Given the description of an element on the screen output the (x, y) to click on. 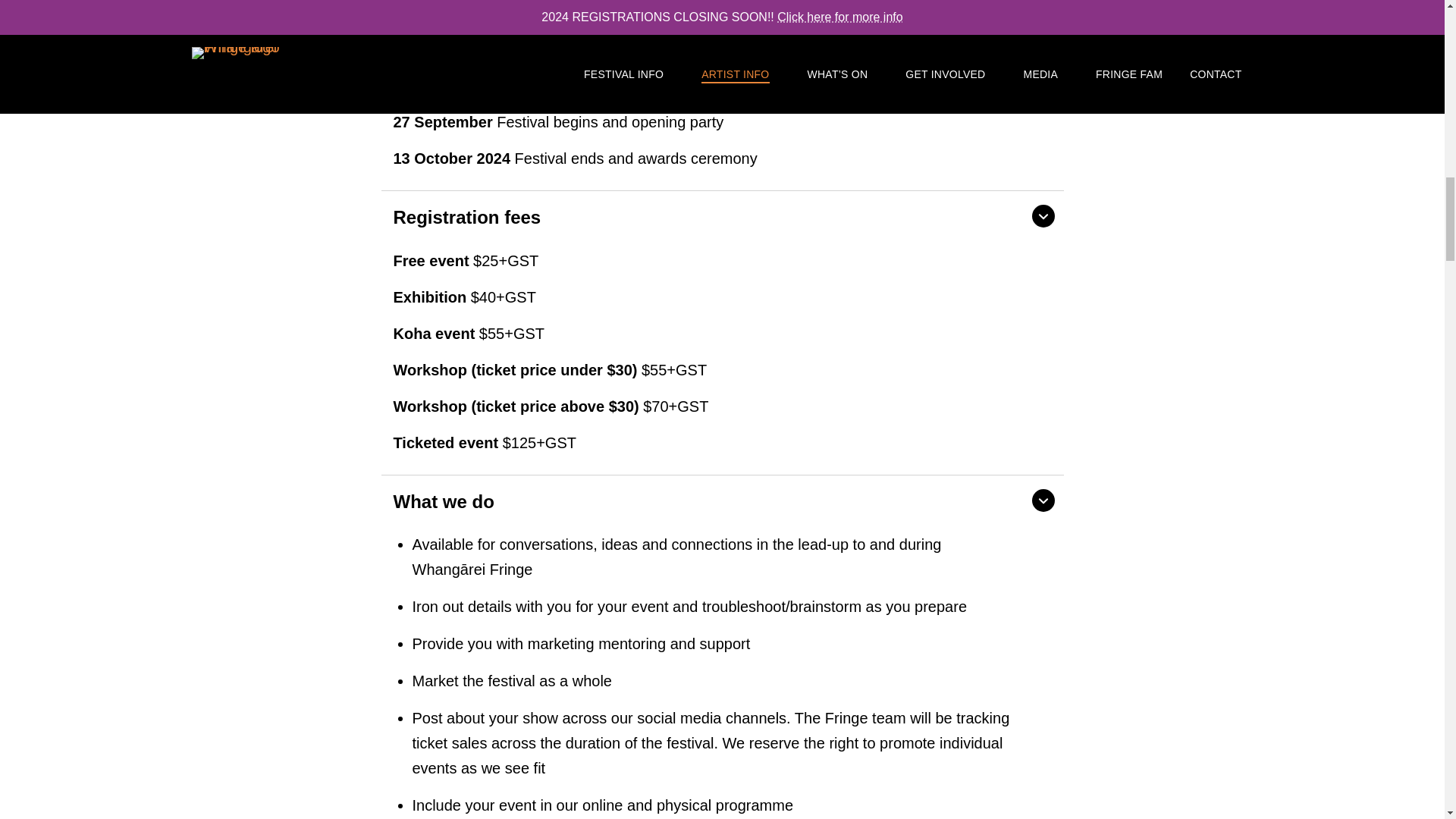
Registration fees (721, 215)
What we do (721, 500)
